Given the description of an element on the screen output the (x, y) to click on. 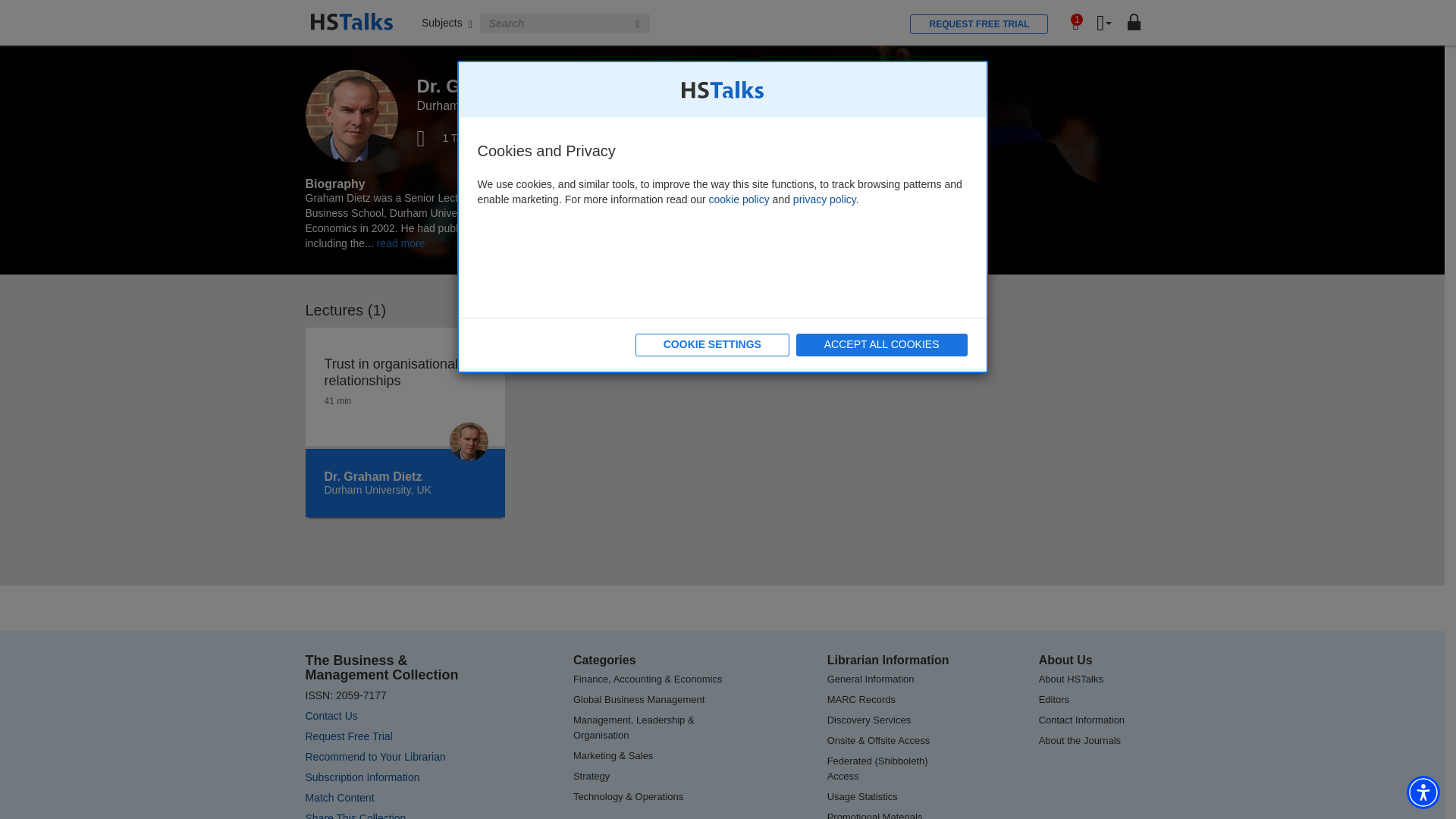
Match Content (339, 797)
REQUEST FREE TRIAL (979, 24)
Subscription Information (361, 776)
Recommend to Your Librarian (374, 756)
User (1104, 23)
Search (638, 23)
Request Free Trial (347, 736)
Share This Collection (355, 815)
Contact Us (330, 715)
Durham University, UK (377, 490)
Subjects   (446, 22)
Accessibility Menu (1422, 792)
Trust in organisational relationships (405, 372)
read more (401, 243)
